Given the description of an element on the screen output the (x, y) to click on. 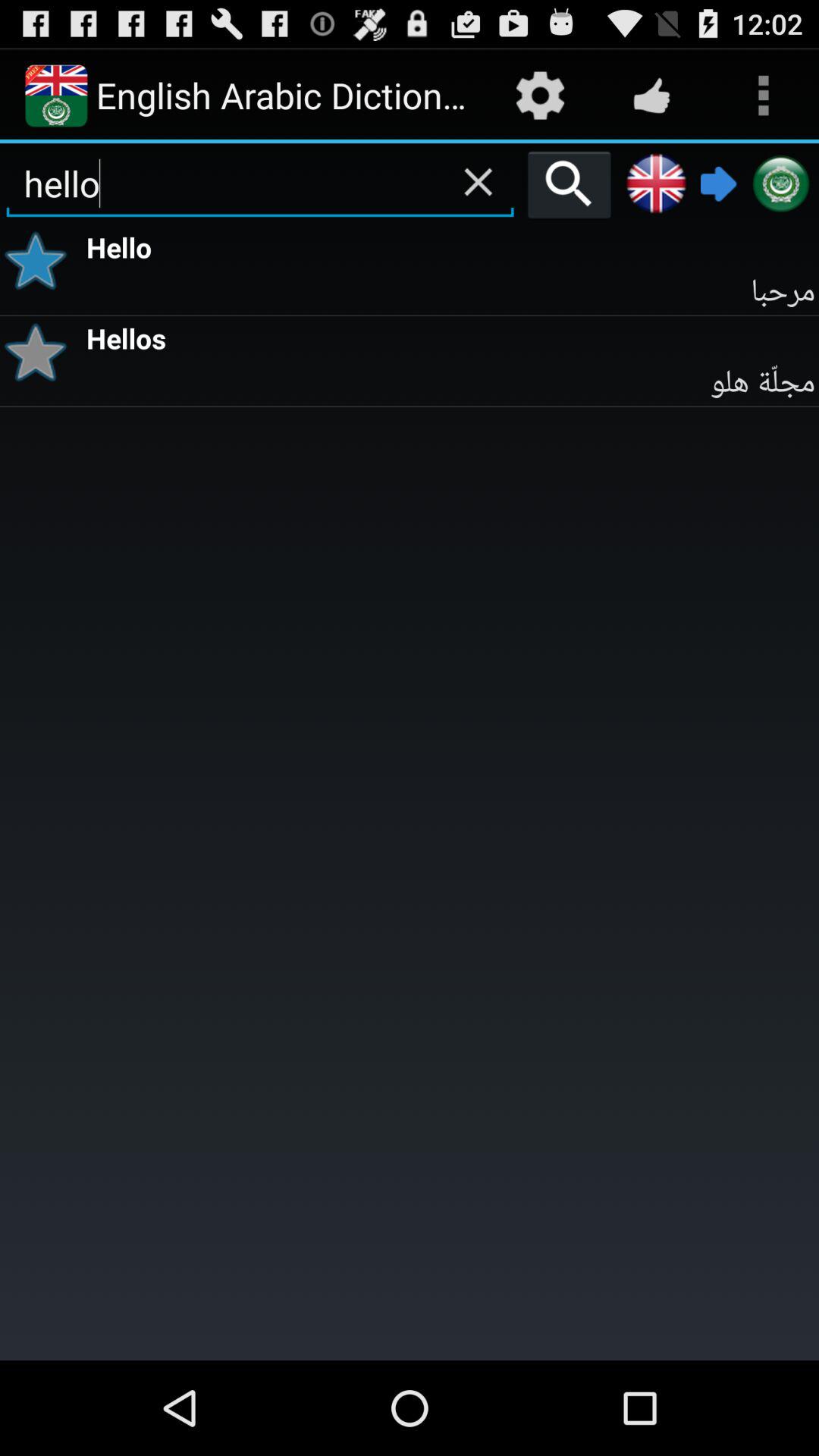
scroll until hellos (451, 337)
